Given the description of an element on the screen output the (x, y) to click on. 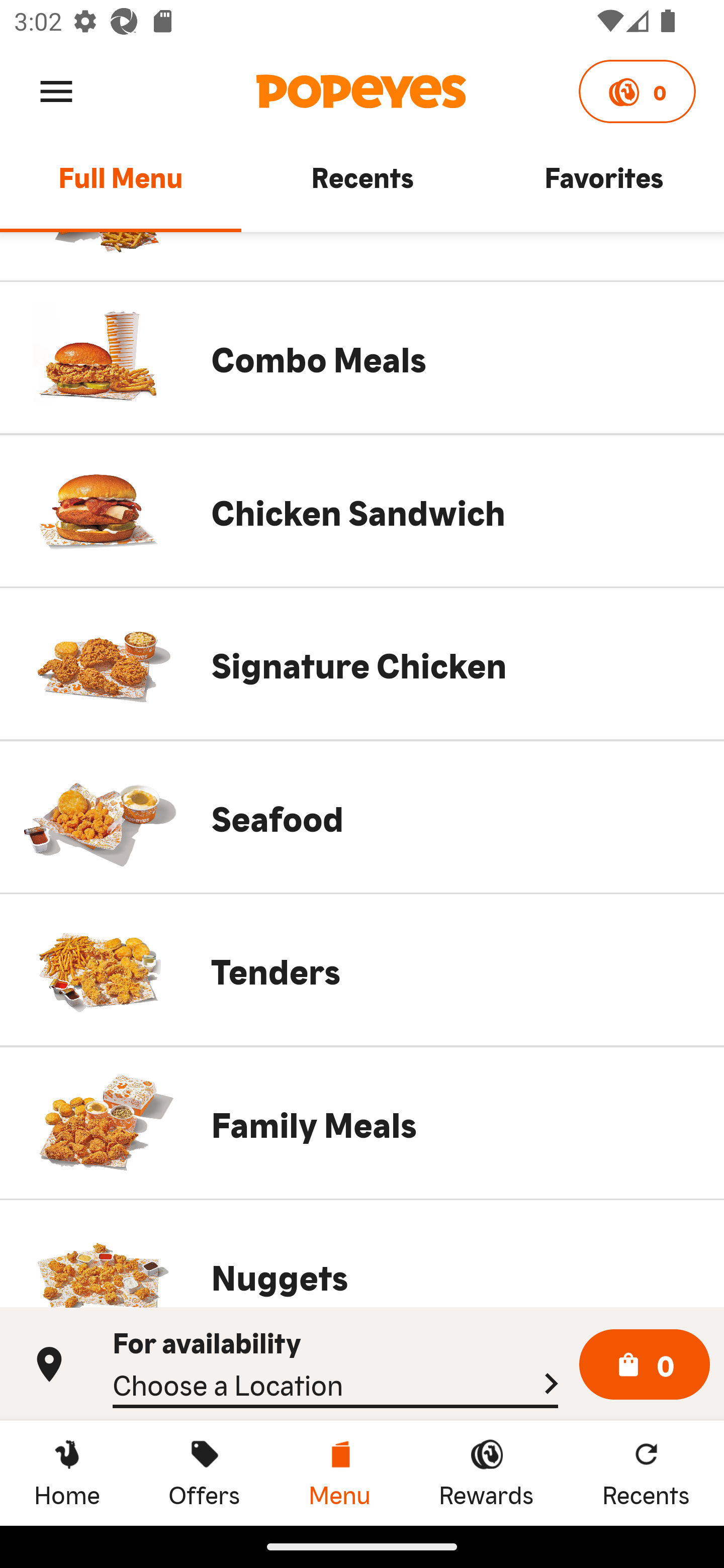
Menu  (56, 90)
0 Points 0 (636, 91)
Full Menu (120, 186)
Recents (361, 186)
Favorites (603, 186)
Seafood, Seafood Seafood Seafood (362, 816)
Chicken Tenders, Tenders Chicken Tenders Tenders (362, 969)
Nuggets, Nuggets Nuggets Nuggets (362, 1253)
0 Cart total  0 (644, 1364)
Home Home Home (66, 1472)
Offers Offers Offers (203, 1472)
Menu, current page Menu Menu, current page (339, 1472)
Rewards Rewards Rewards (486, 1472)
Recents Recents Recents (646, 1472)
